Given the description of an element on the screen output the (x, y) to click on. 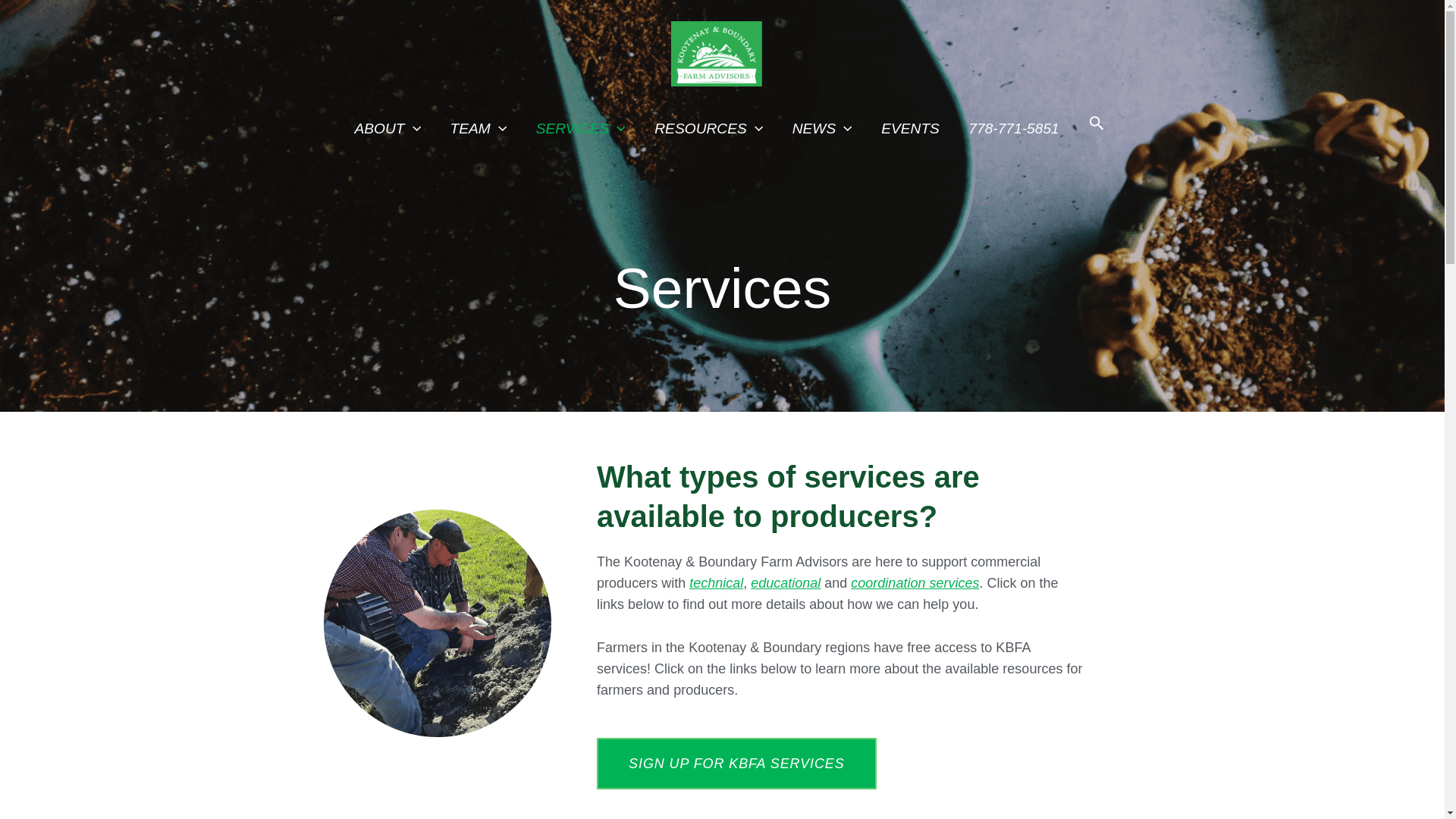
RESOURCES (708, 128)
TEAM (478, 128)
778-771-5851 (1013, 128)
EVENTS (909, 128)
SERVICES (580, 128)
NEWS (821, 128)
ABOUT (387, 128)
